Given the description of an element on the screen output the (x, y) to click on. 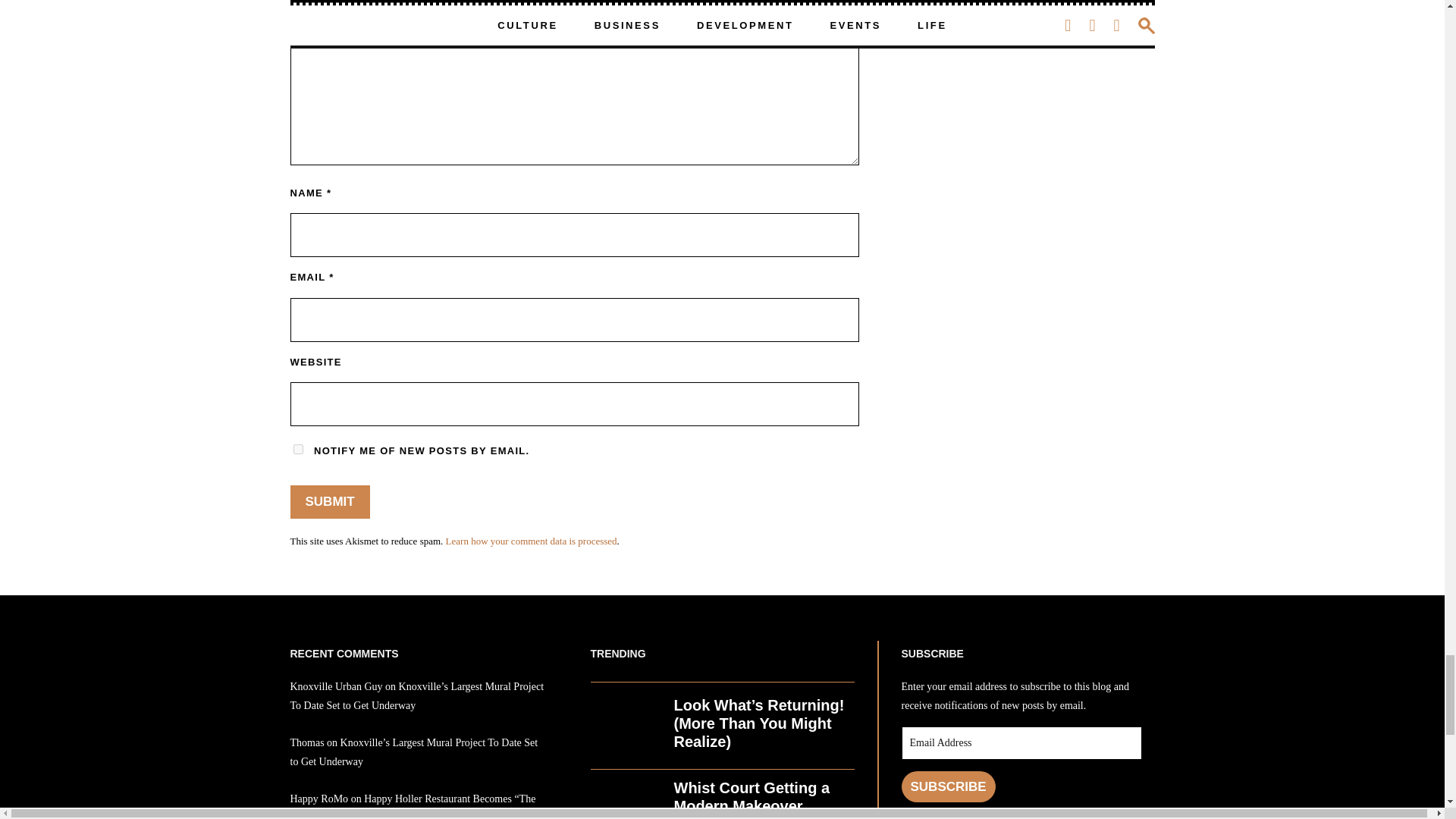
Submit (329, 501)
subscribe (297, 449)
